Given the description of an element on the screen output the (x, y) to click on. 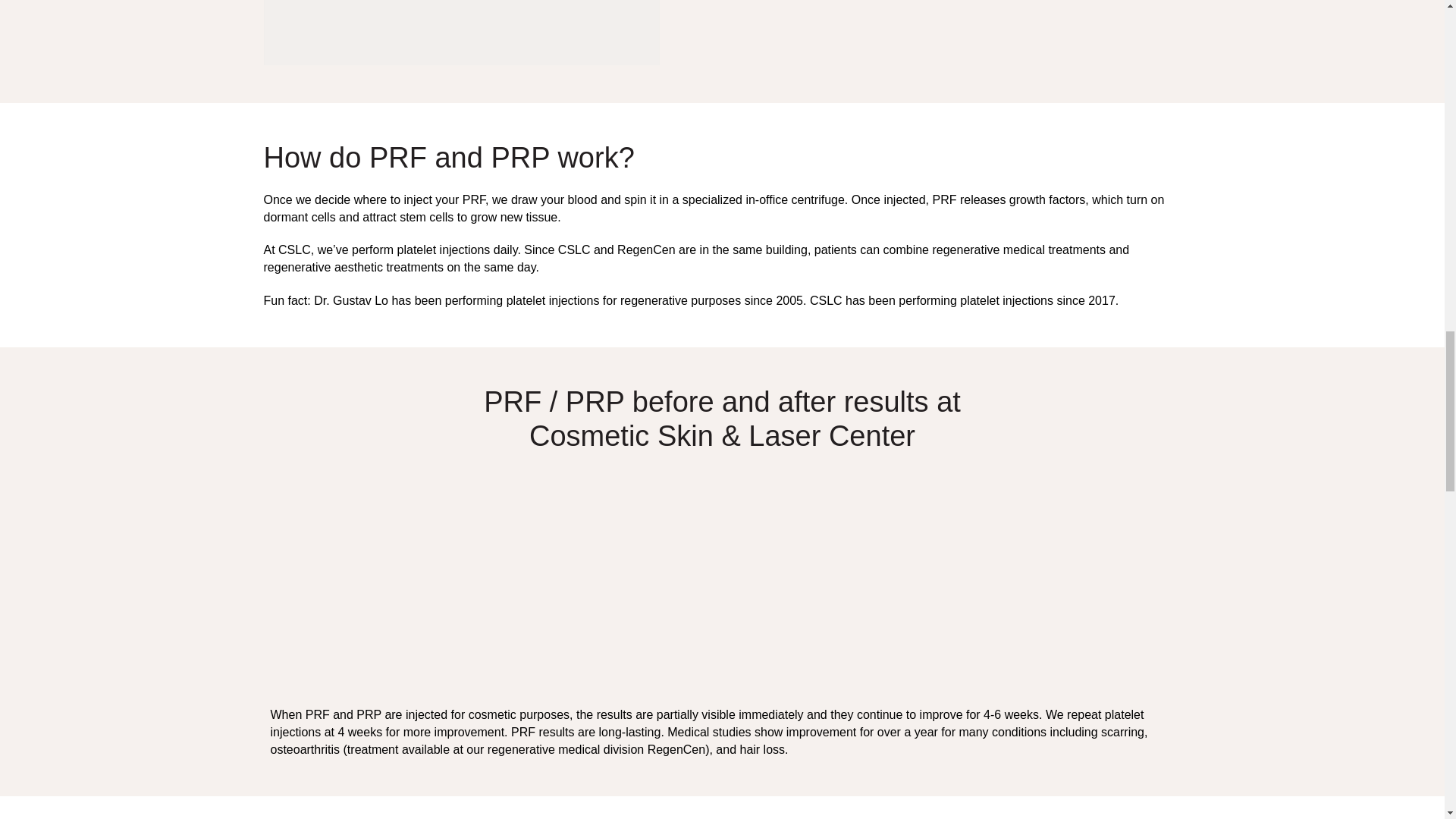
microneedling prf (947, 572)
prf injections (495, 572)
PRF injection 4 (462, 33)
